Given the description of an element on the screen output the (x, y) to click on. 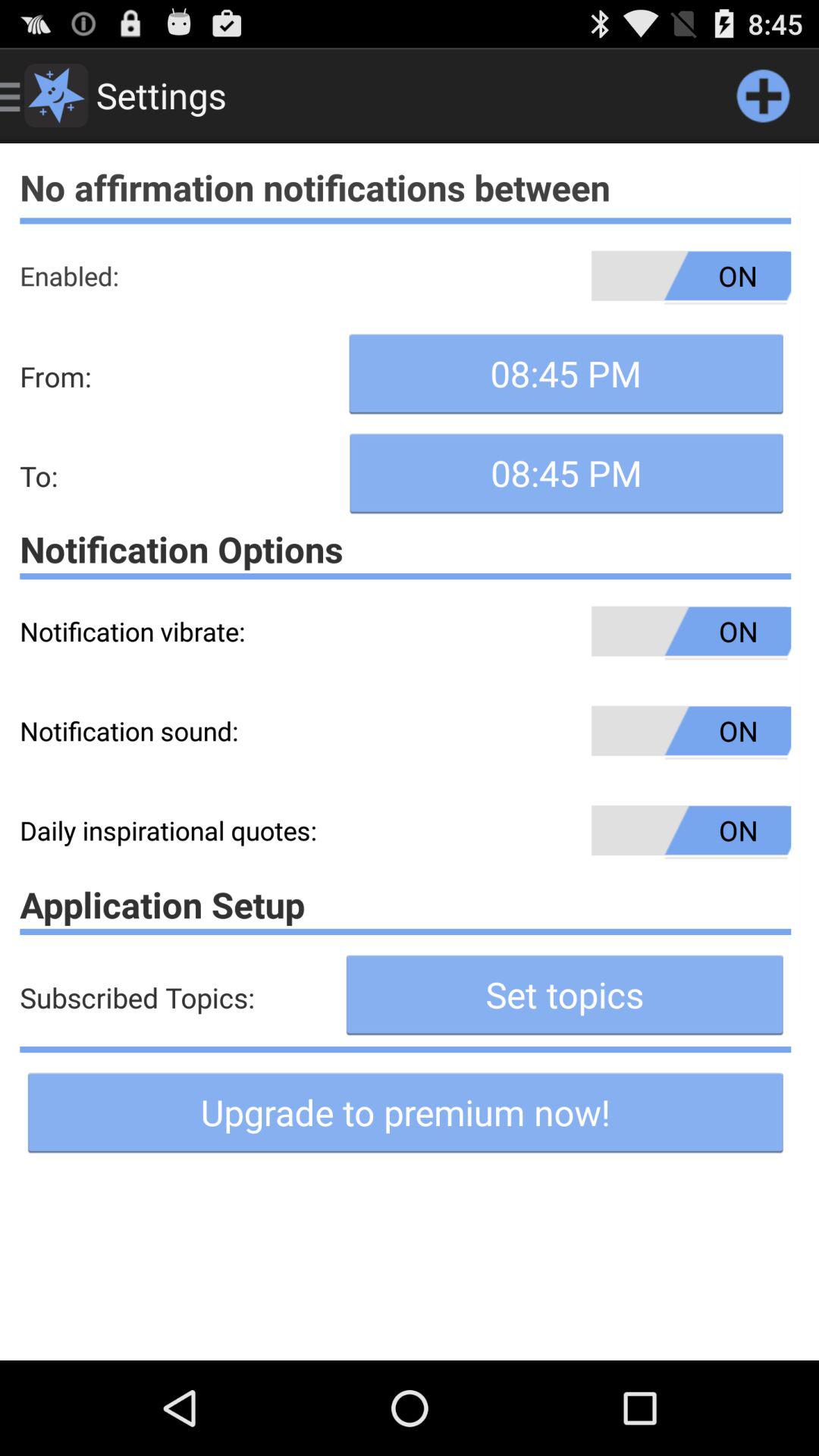
click on the button below the on (566, 374)
select on notification option (405, 548)
click the button on the bottom line of the web page (405, 1112)
click on the third option under notification options (405, 830)
select the text above the text subscribed topics (405, 904)
click on the button beside to (566, 473)
